Given the description of an element on the screen output the (x, y) to click on. 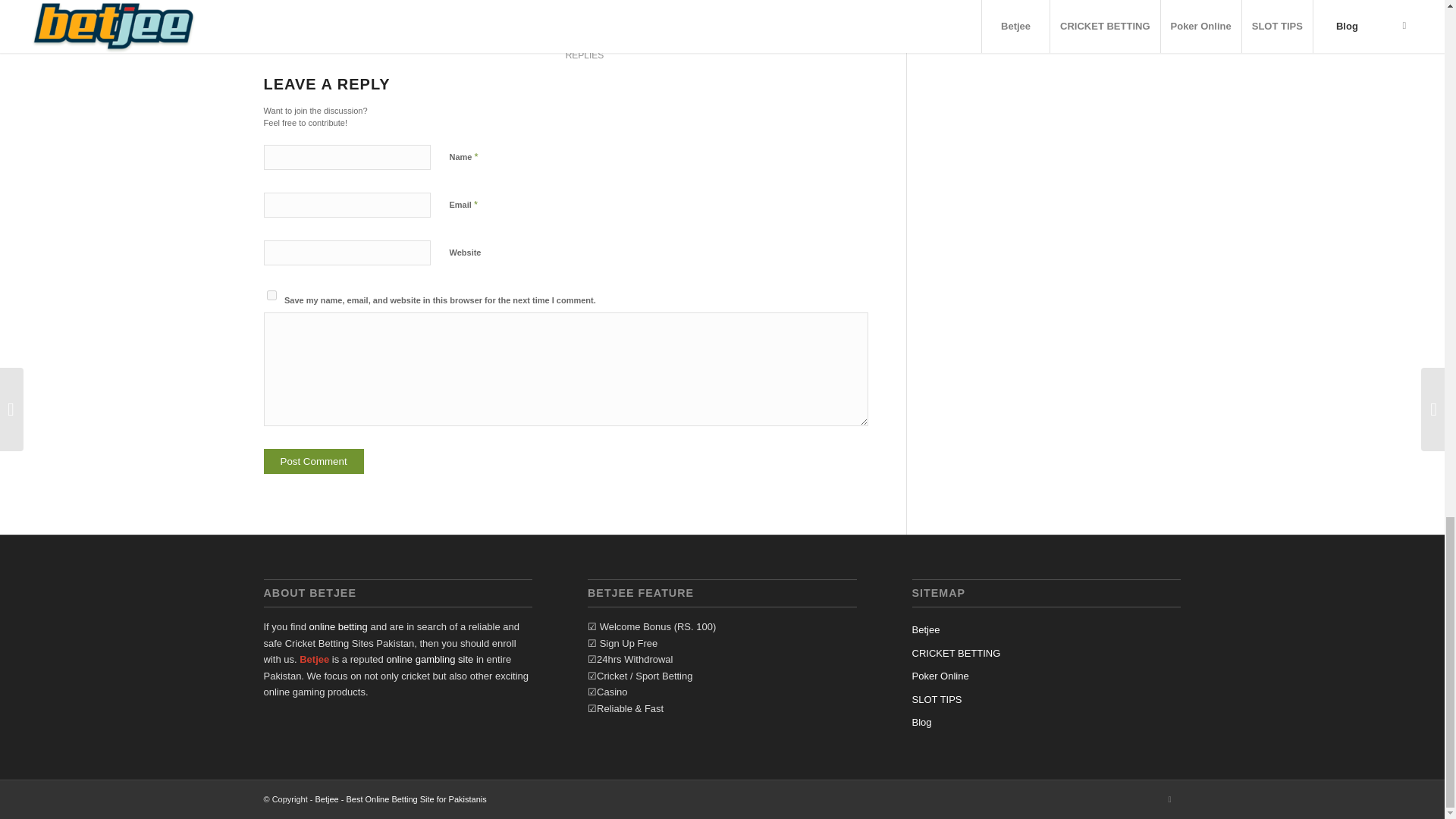
Post Comment (313, 461)
Betjee (1046, 630)
Milyon88 Online Casino Philippines (337, 626)
yes (271, 295)
online betting (337, 626)
online gambling site (429, 659)
CRICKET BETTING (1046, 653)
Betjee - Best Online Betting Site for Pakistanis (400, 798)
Poker Online (1046, 676)
Blog (1046, 722)
